Given the description of an element on the screen output the (x, y) to click on. 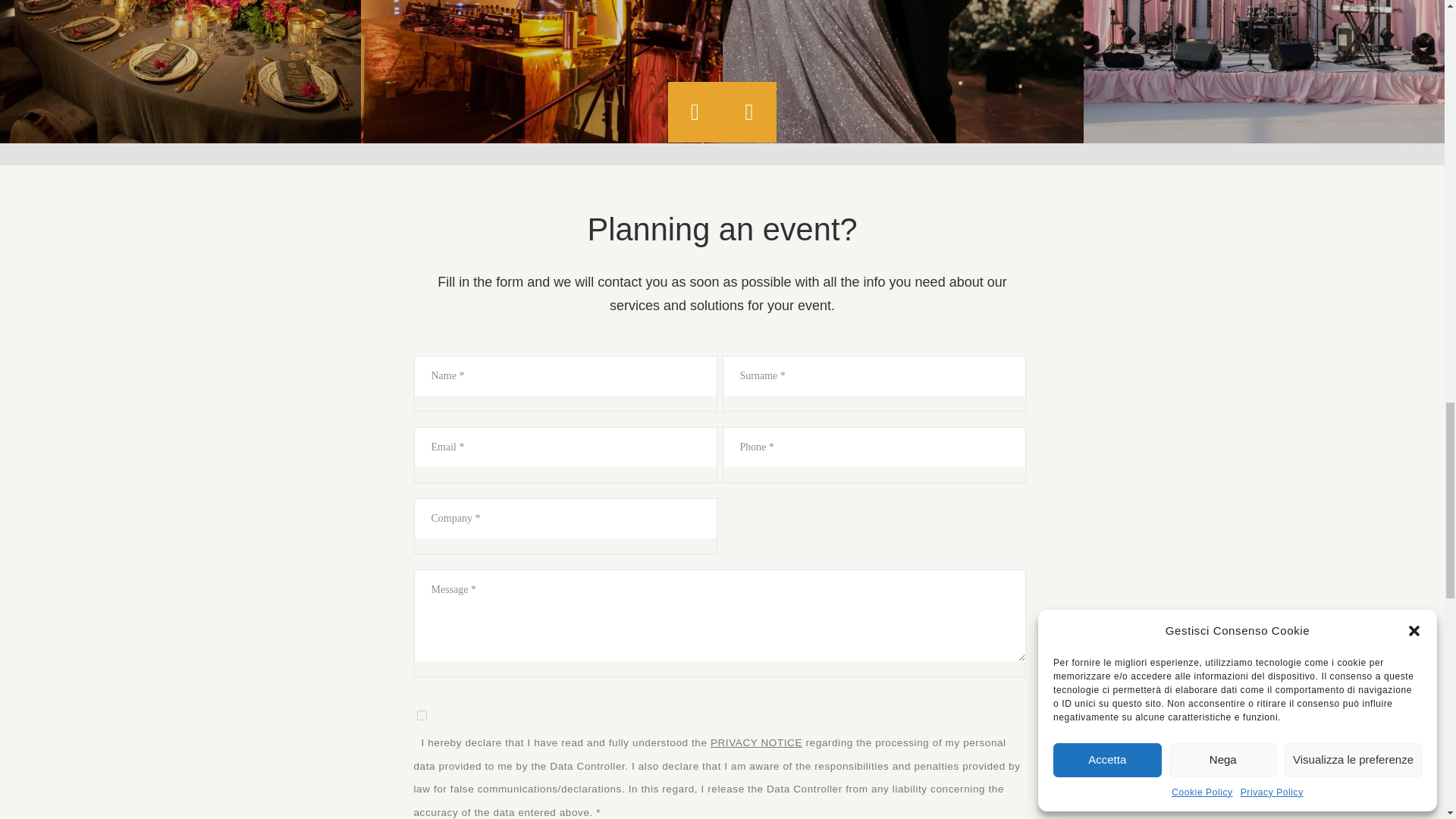
RAVA palchi per eventi (180, 71)
RAVA noleggio dance floor per matrimoni (541, 71)
RAVA allestimenti tecnici per eventi privati (902, 71)
1 (421, 715)
